Given the description of an element on the screen output the (x, y) to click on. 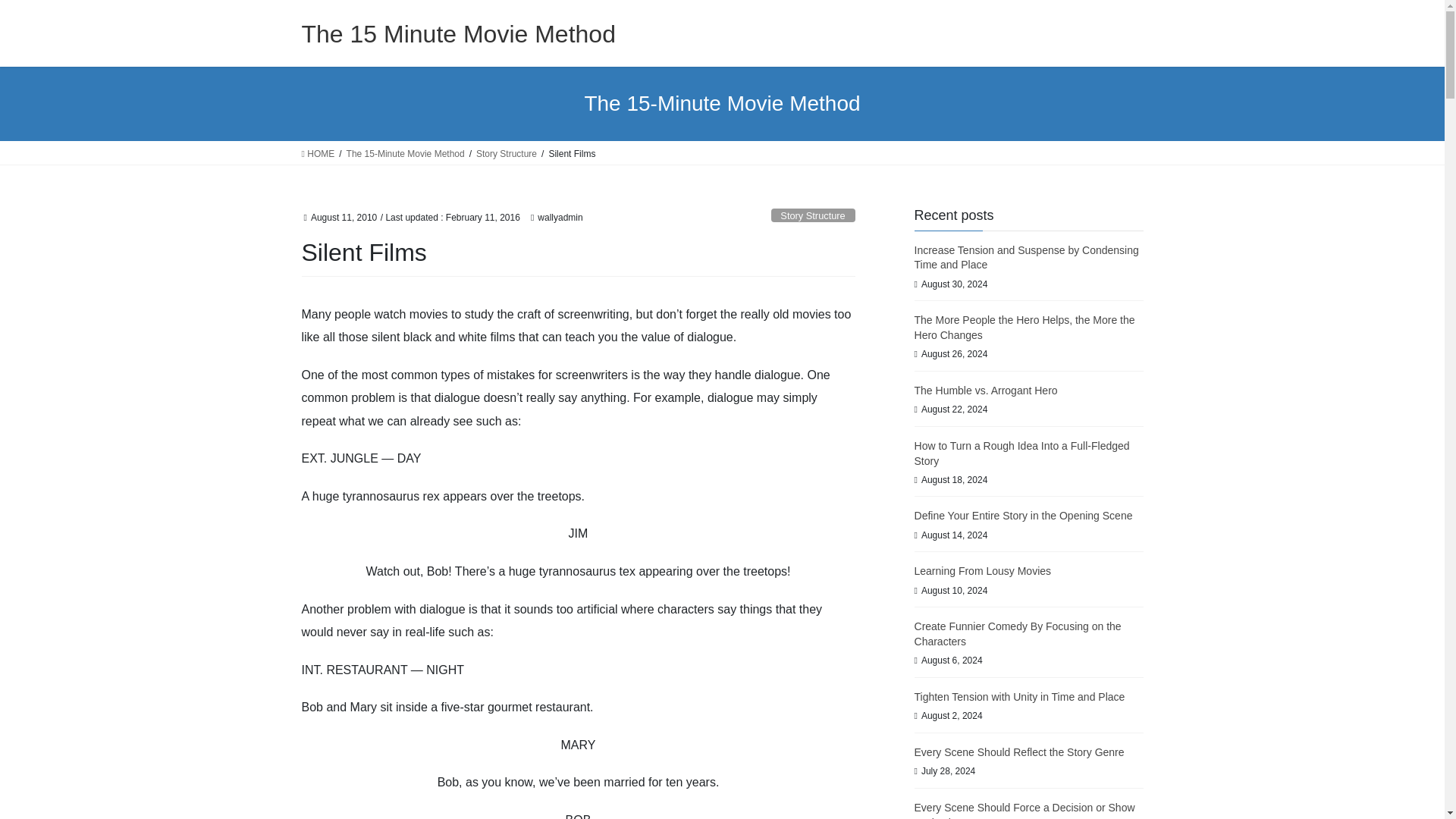
The 15-Minute Movie Method (405, 153)
Tighten Tension with Unity in Time and Place (1019, 696)
Increase Tension and Suspense by Condensing Time and Place (1026, 257)
Every Scene Should Reflect the Story Genre (1019, 752)
Story Structure (506, 153)
Define Your Entire Story in the Opening Scene (1023, 515)
Story Structure (813, 215)
HOME (317, 153)
The 15 Minute Movie Method (458, 33)
Every Scene Should Force a Decision or Show Motivation (1024, 810)
